Given the description of an element on the screen output the (x, y) to click on. 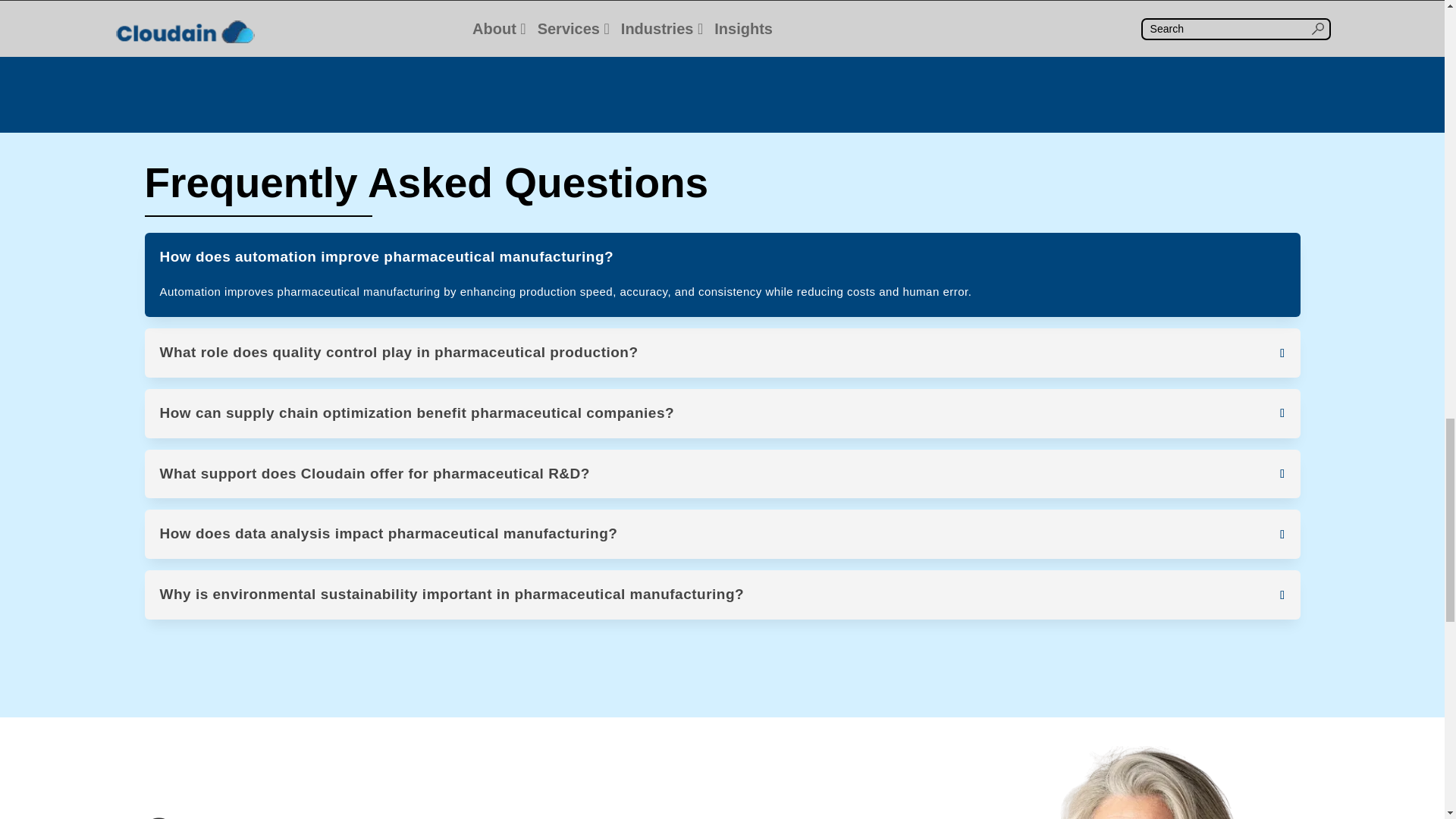
Footer Contact Image (1047, 782)
